Given the description of an element on the screen output the (x, y) to click on. 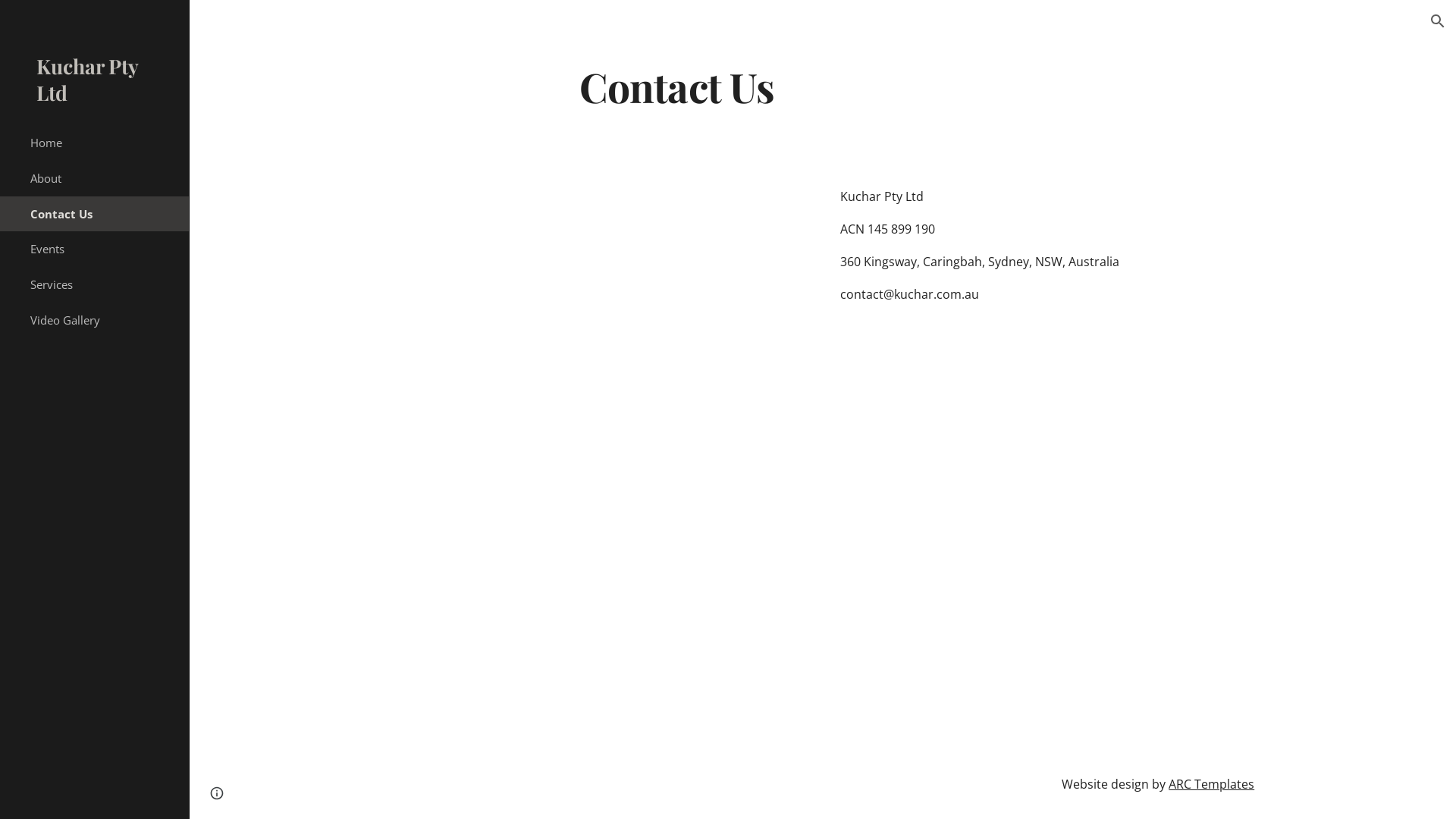
Video Gallery Element type: text (103, 320)
About Element type: text (103, 178)
Home Element type: text (103, 142)
Kuchar Pty Ltd Element type: text (94, 84)
Services Element type: text (103, 284)
Contact Us Element type: text (103, 214)
ARC Templates Element type: text (1211, 783)
Events Element type: text (103, 248)
